Given the description of an element on the screen output the (x, y) to click on. 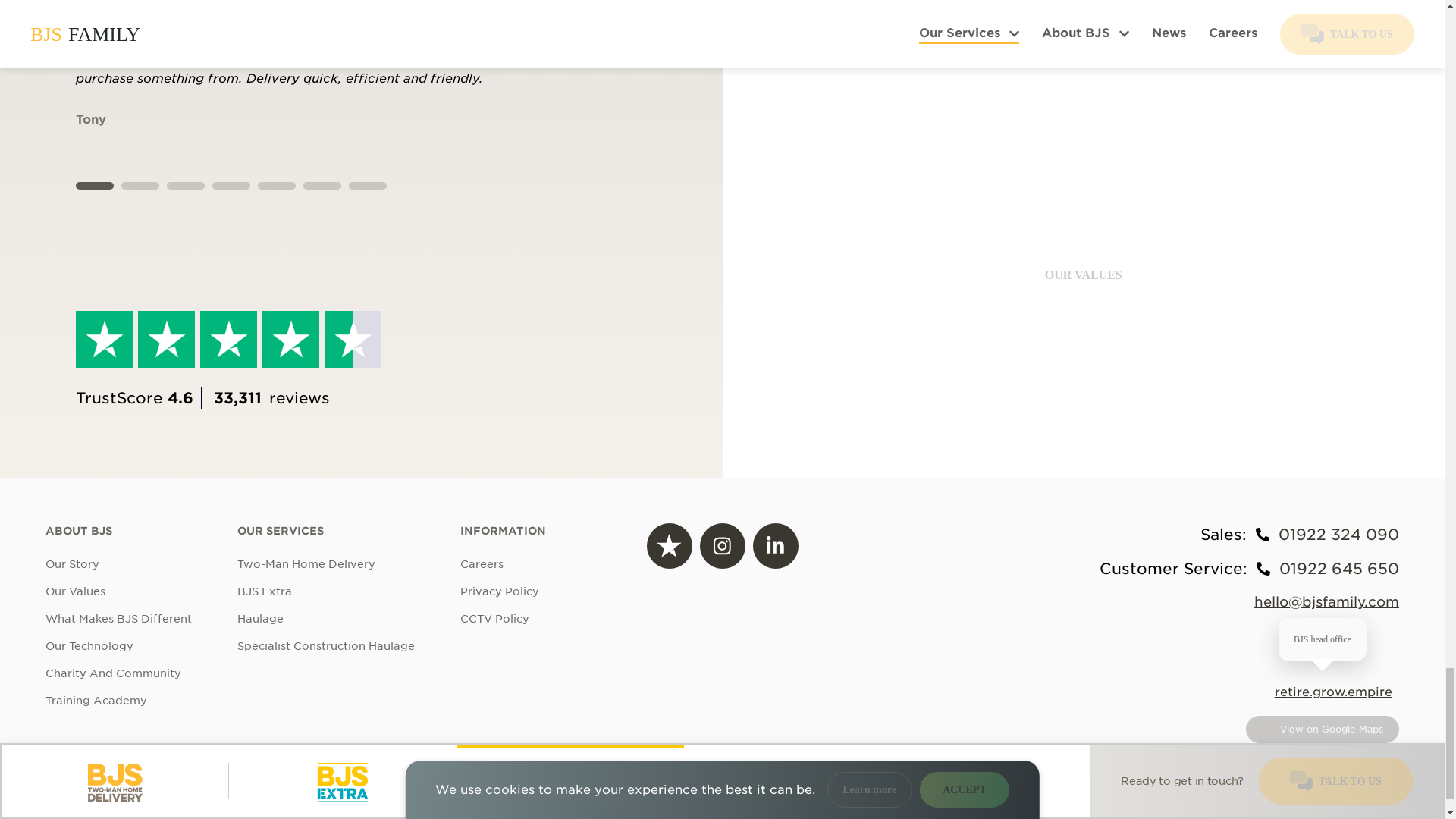
OUR VALUES (1083, 275)
retire.grow.empire (1332, 692)
View on Google Maps (1322, 728)
01922 645 650 (1339, 568)
View on Google Maps (1322, 729)
01922 324 090 (1338, 534)
